Given the description of an element on the screen output the (x, y) to click on. 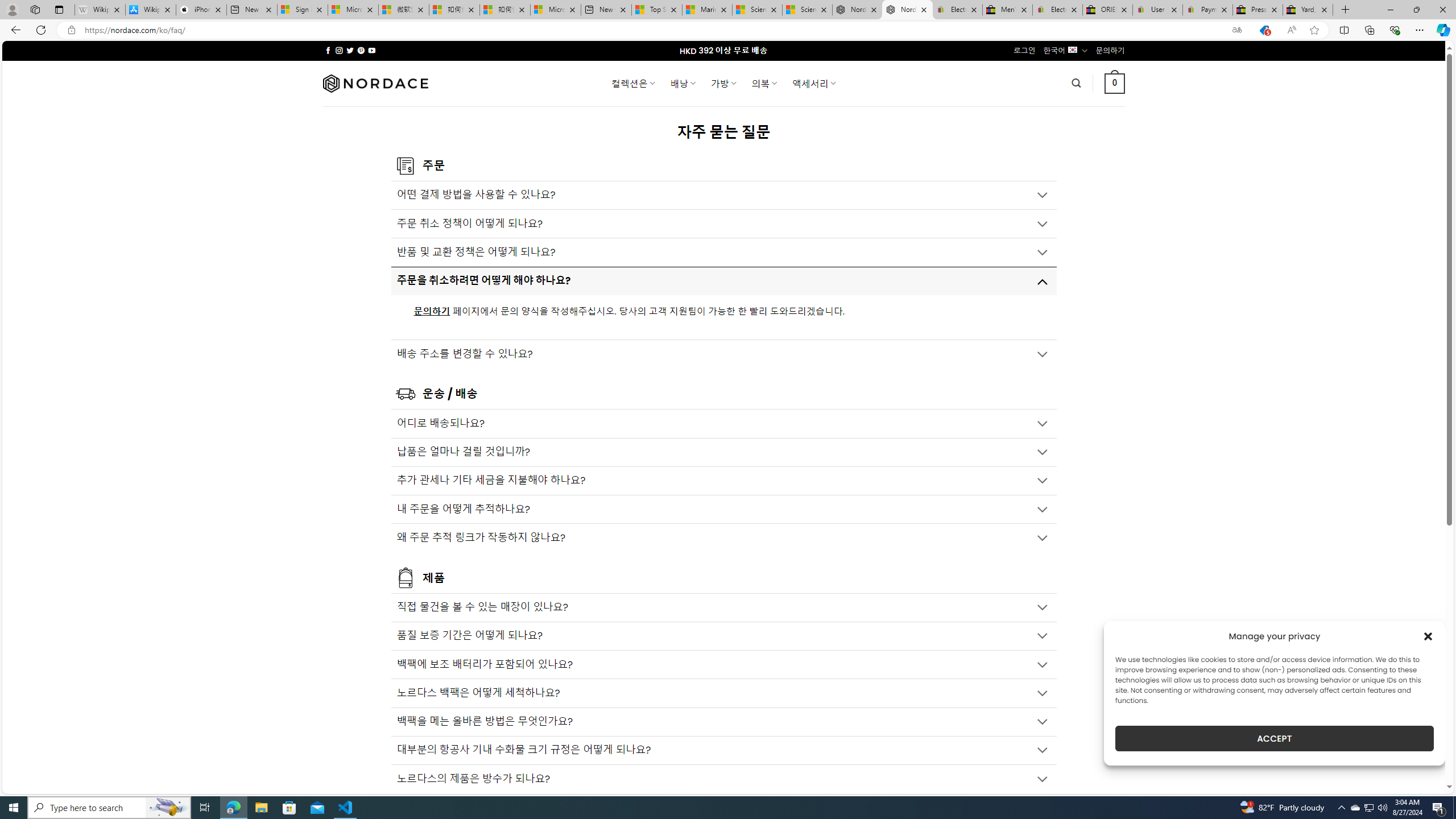
This site has coupons! Shopping in Microsoft Edge, 5 (1263, 29)
Follow on Instagram (338, 50)
